Given the description of an element on the screen output the (x, y) to click on. 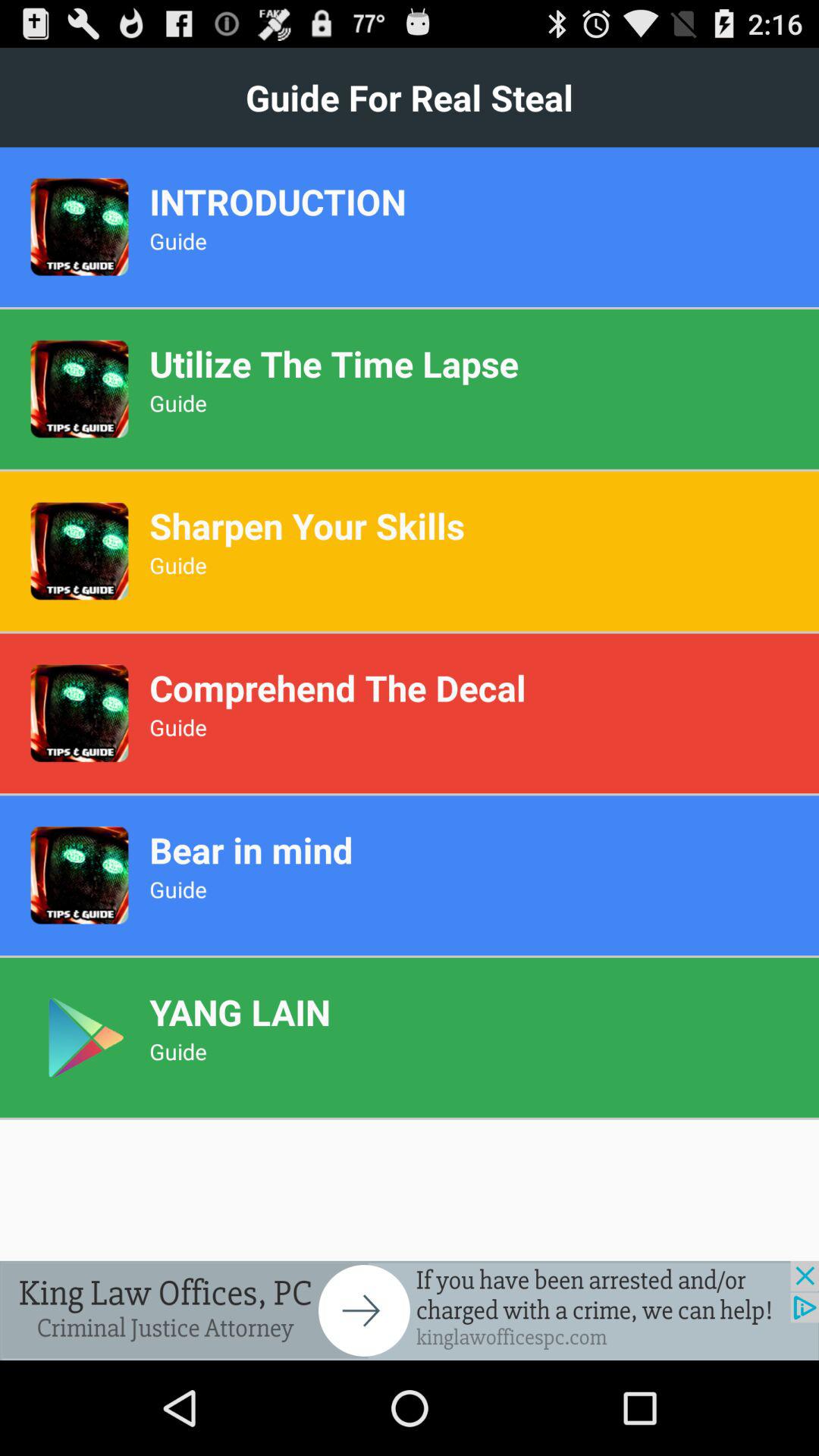
go forward/ go to advertisement website/app (409, 1310)
